Given the description of an element on the screen output the (x, y) to click on. 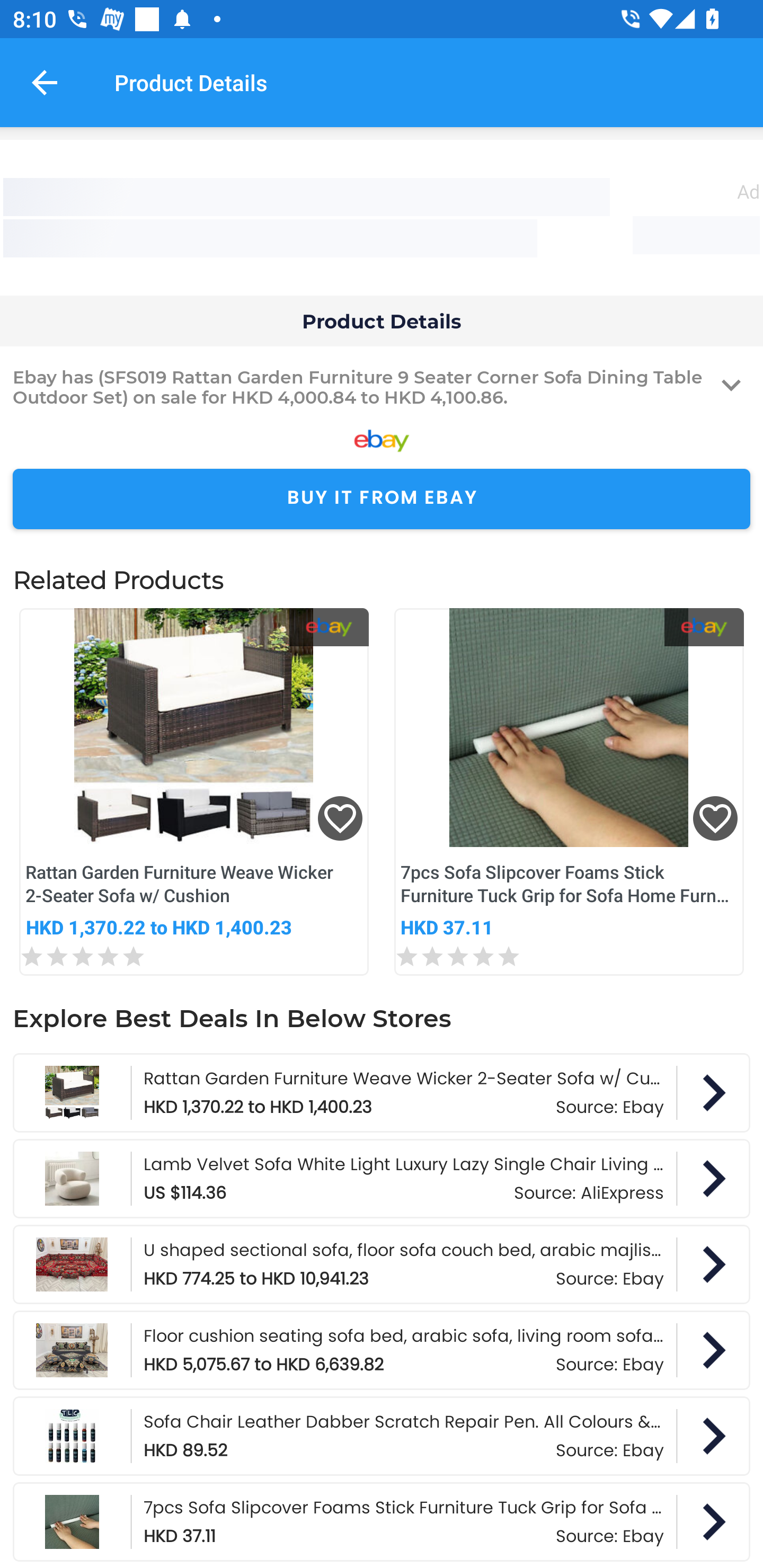
Navigate up (44, 82)
BUY IT FROM EBAY (381, 499)
